Given the description of an element on the screen output the (x, y) to click on. 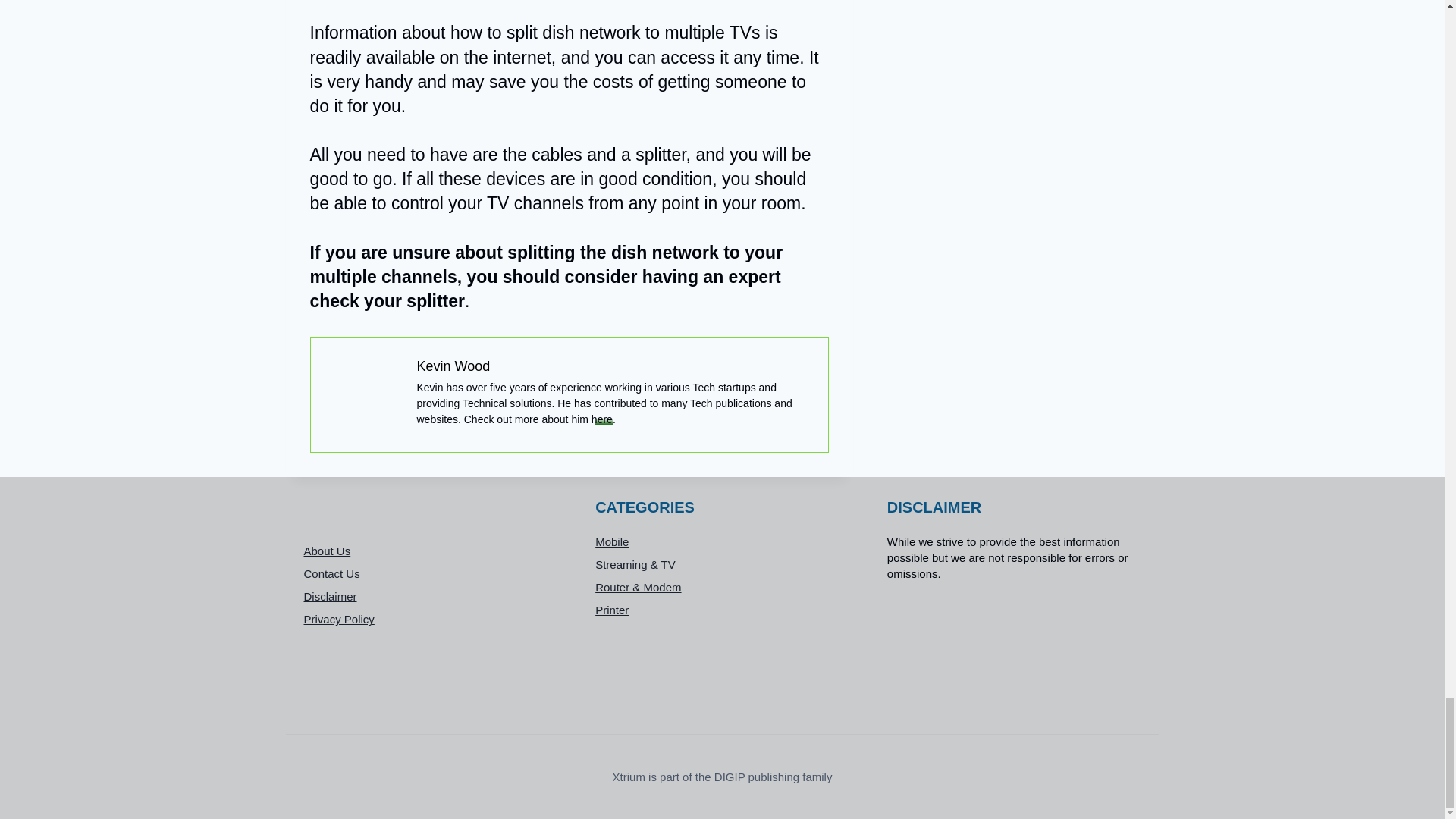
Contact Us (429, 573)
How to Split Dish Network to Multiple TVs? Complete Guide 3 (363, 395)
About Us (429, 550)
Kevin Wood (453, 365)
here (601, 419)
DMCA.com Protection Status (1013, 649)
